Given the description of an element on the screen output the (x, y) to click on. 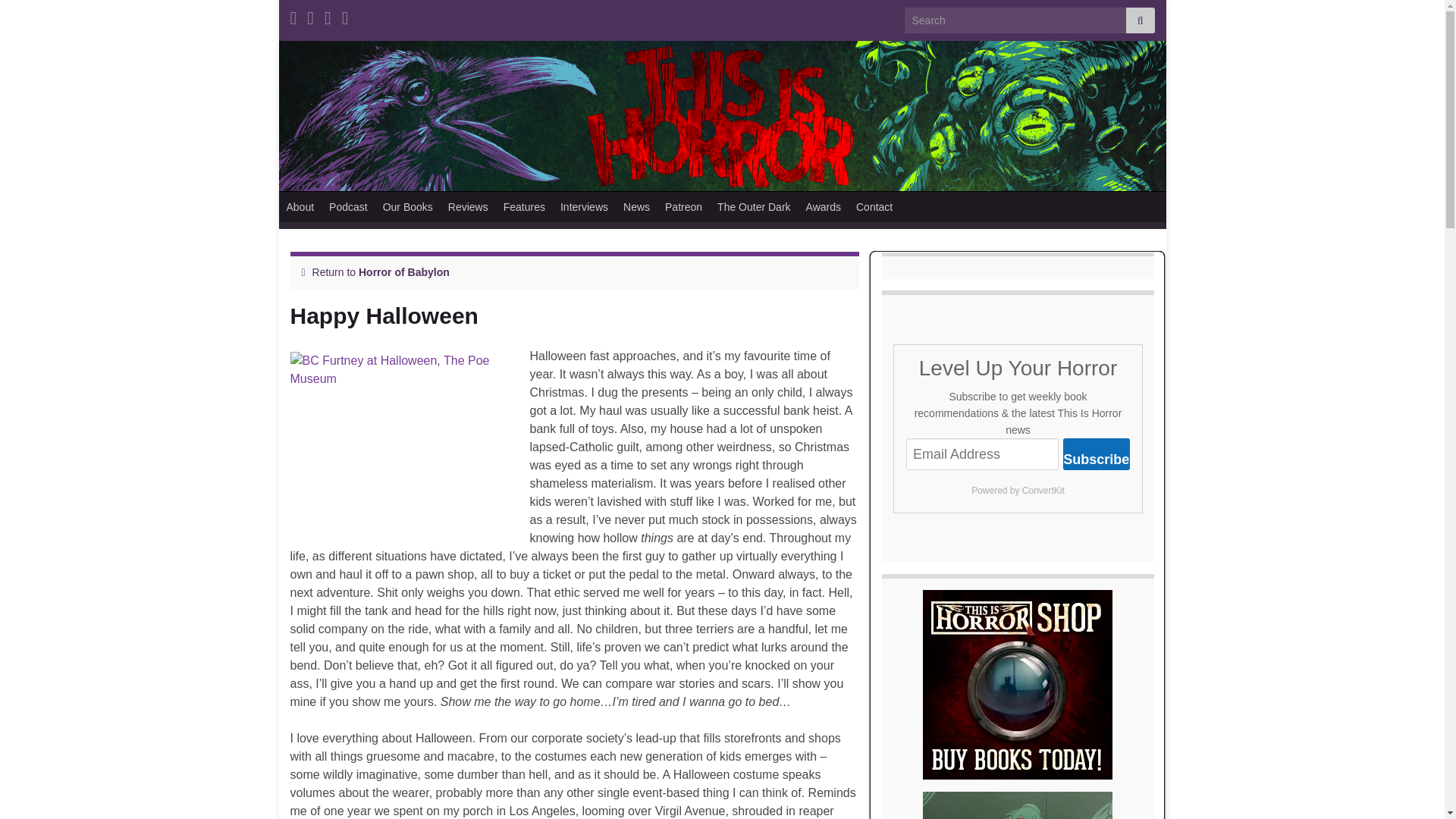
Interviews (584, 206)
Patreon (684, 206)
Awards (822, 206)
Our Books (408, 206)
Powered by ConvertKit (1017, 490)
About (300, 206)
Subscribe (1096, 454)
News (636, 206)
Horror of Babylon (403, 272)
About (300, 206)
Contact (873, 206)
Features (524, 206)
Podcast (348, 206)
The Outer Dark (753, 206)
